Given the description of an element on the screen output the (x, y) to click on. 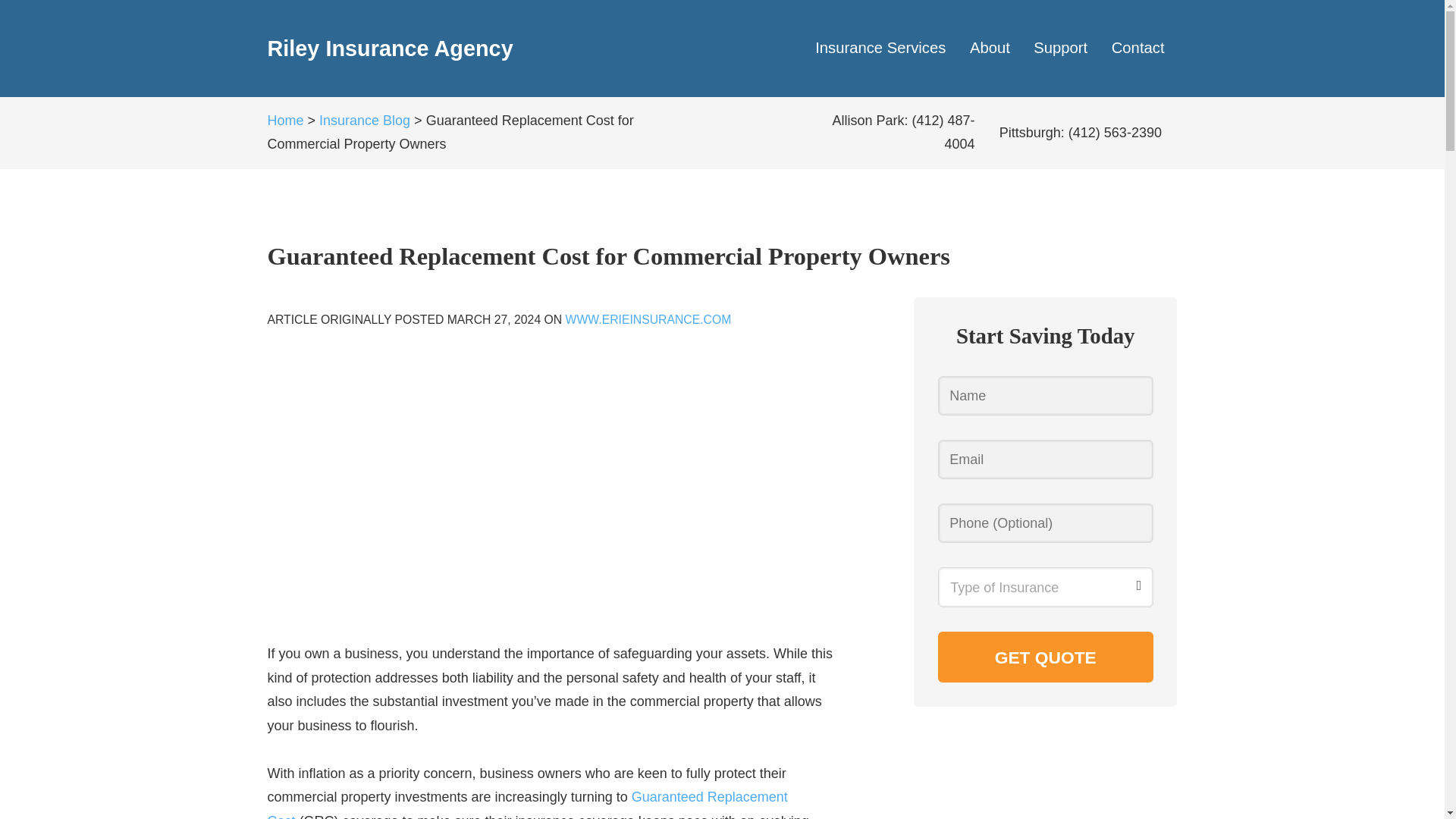
Contact (1137, 48)
Riley Insurance Agency (389, 48)
Get Quote (1045, 657)
Insurance Services (880, 48)
Support (1060, 48)
About (990, 48)
